Given the description of an element on the screen output the (x, y) to click on. 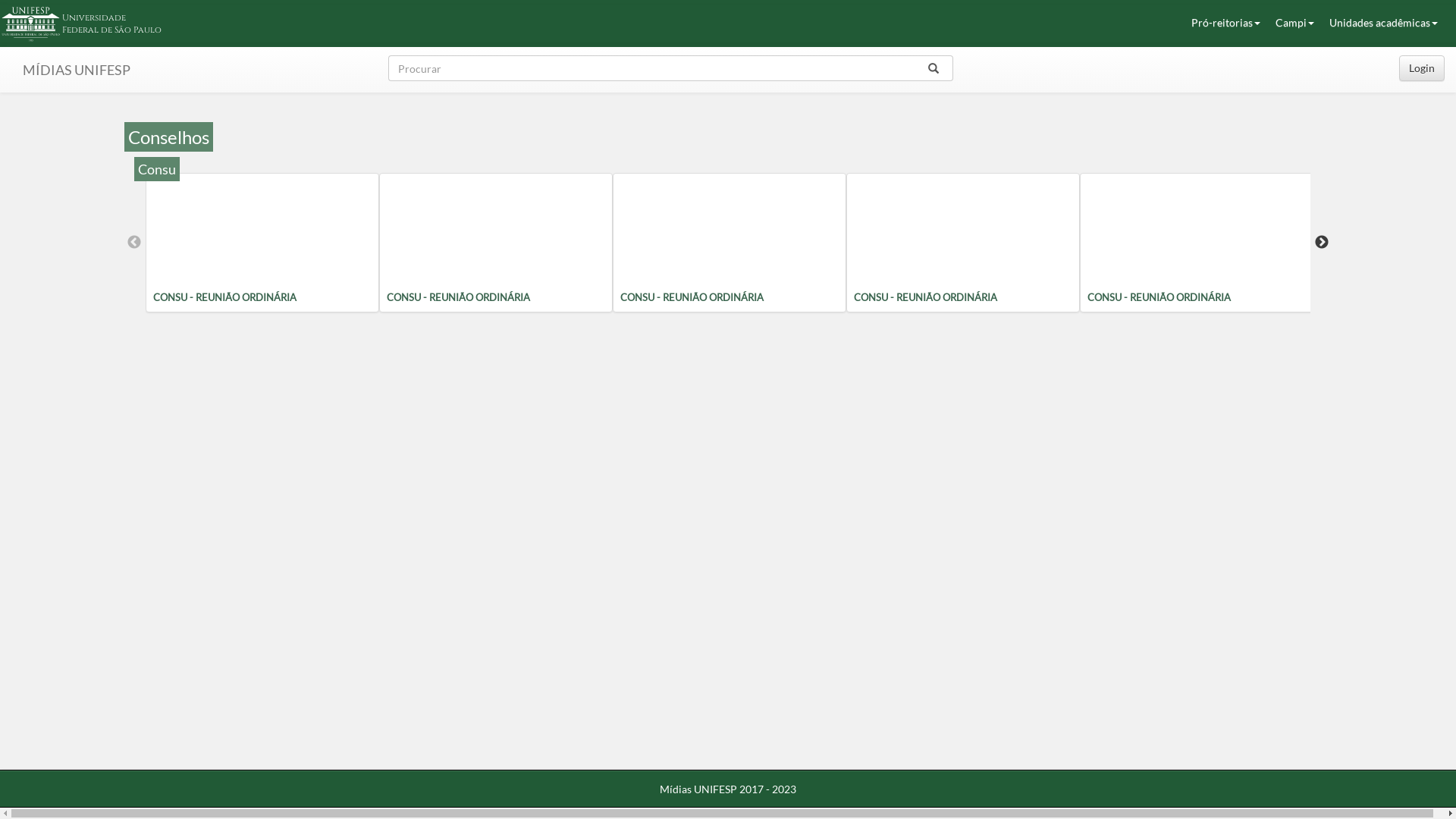
Previous Element type: text (133, 242)
Login Element type: text (1421, 68)
Next Element type: text (1321, 242)
Consu Element type: text (156, 168)
Campi Element type: text (1294, 22)
